Given the description of an element on the screen output the (x, y) to click on. 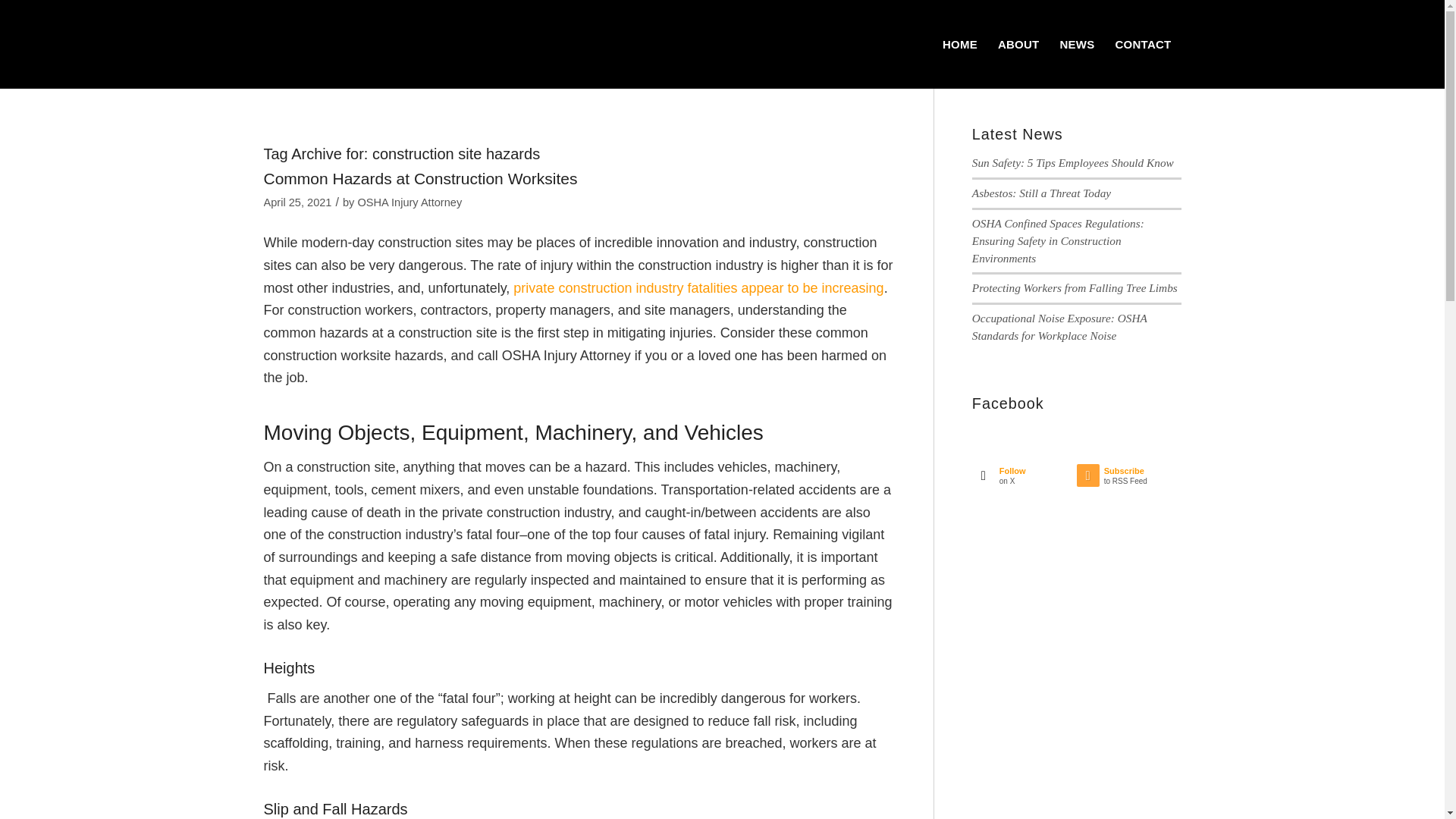
NEWS (1077, 44)
Sun Safety: 5 Tips Employees Should Know (1024, 479)
OSHA Injury Attorney (1072, 162)
ABOUT (408, 202)
Asbestos: Still a Threat Today (1018, 44)
Permanent Link: Common Hazards at Construction Worksites (1041, 192)
Protecting Workers from Falling Tree Limbs (420, 178)
Common Hazards at Construction Worksites (1074, 287)
Posts by OSHA Injury Attorney (420, 178)
HOME (408, 202)
